Given the description of an element on the screen output the (x, y) to click on. 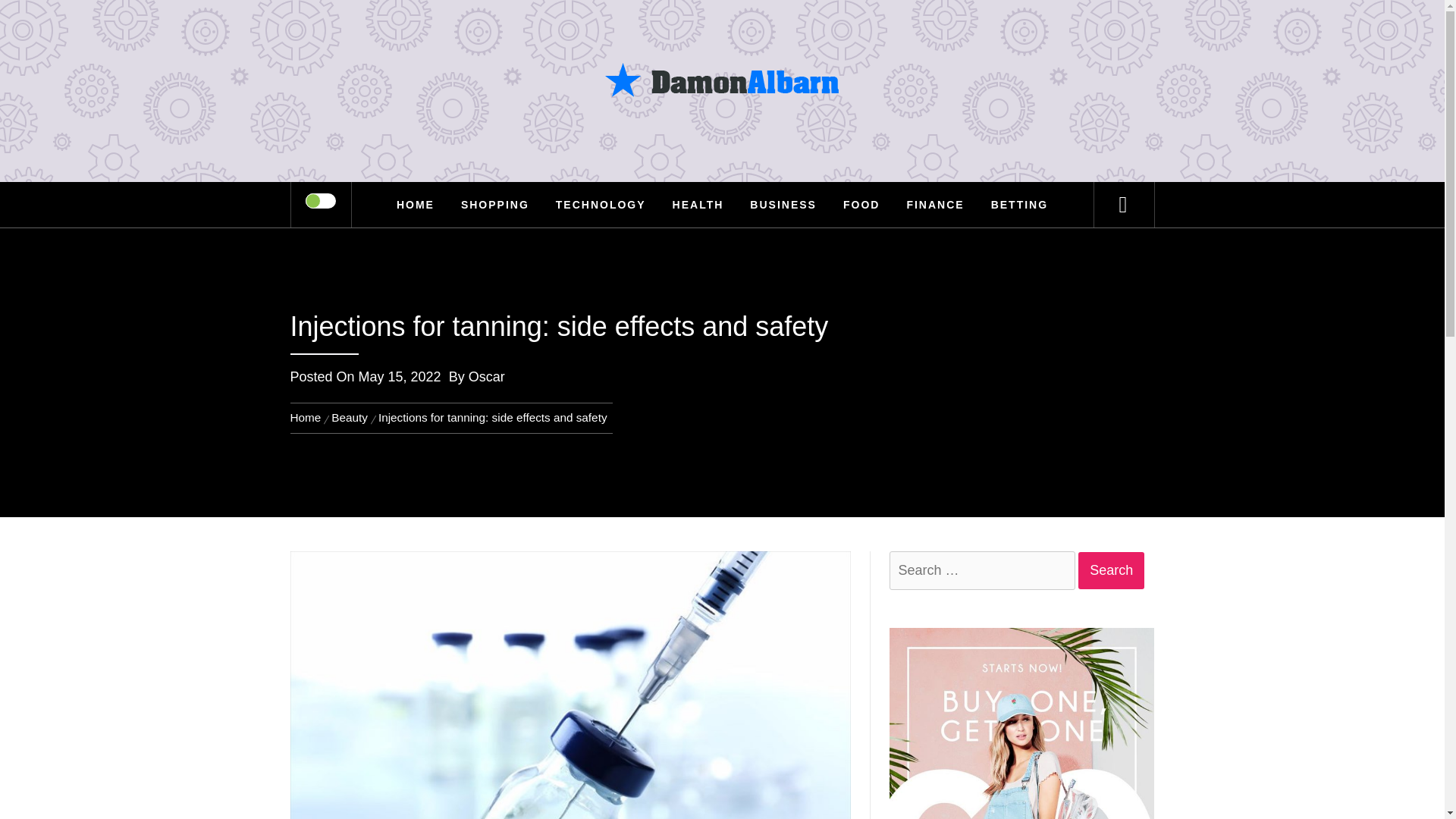
SHOPPING (494, 204)
Search (1111, 570)
TECHNOLOGY (601, 204)
FINANCE (935, 204)
HOME (415, 204)
HEALTH (698, 204)
Search (797, 33)
DAMON ALBARN (721, 105)
Home (307, 417)
Oscar (486, 376)
May 15, 2022 (399, 376)
FOOD (861, 204)
Beauty (349, 417)
Search (1111, 570)
BUSINESS (783, 204)
